Given the description of an element on the screen output the (x, y) to click on. 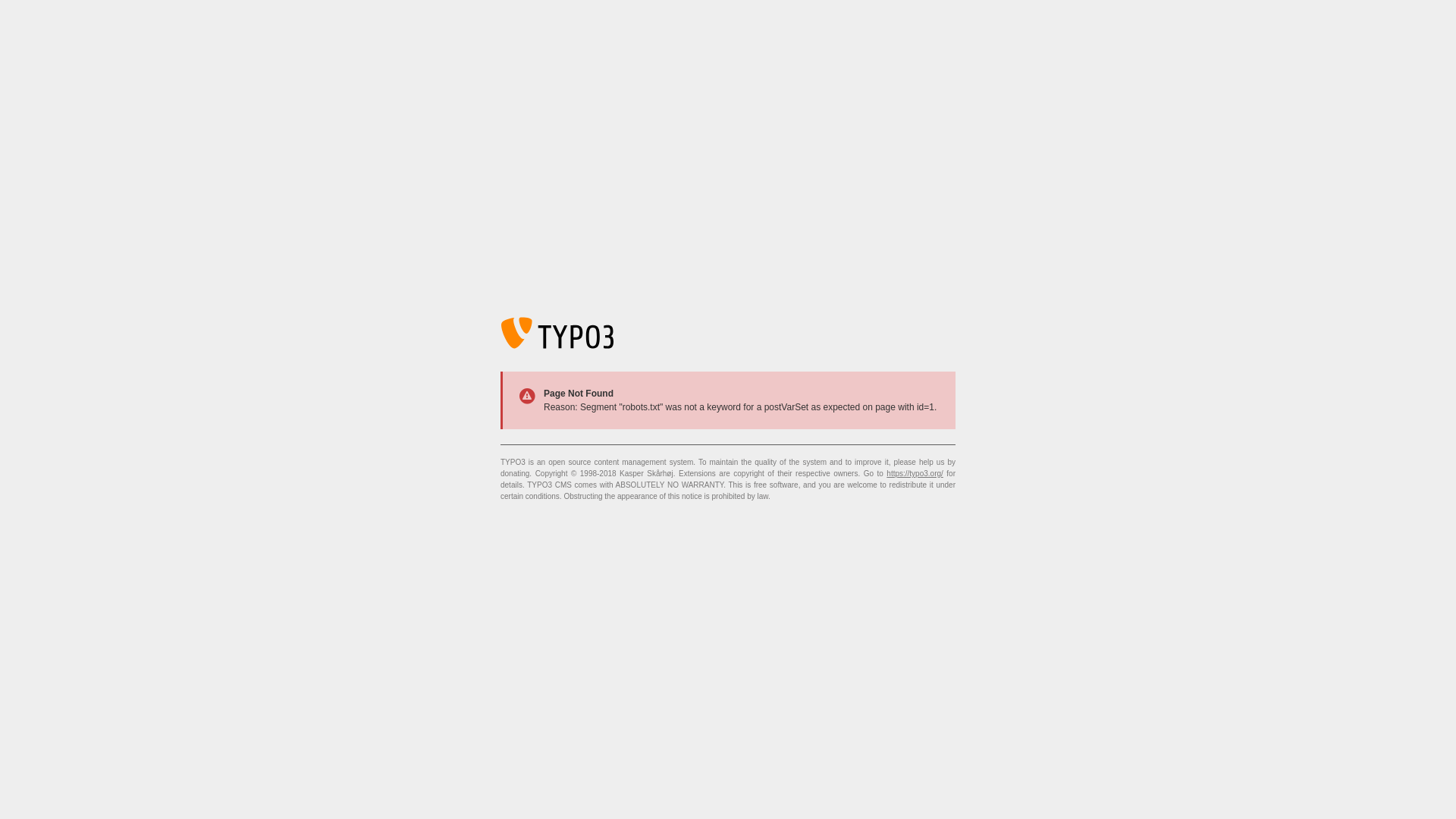
https://typo3.org/ Element type: text (914, 473)
